Given the description of an element on the screen output the (x, y) to click on. 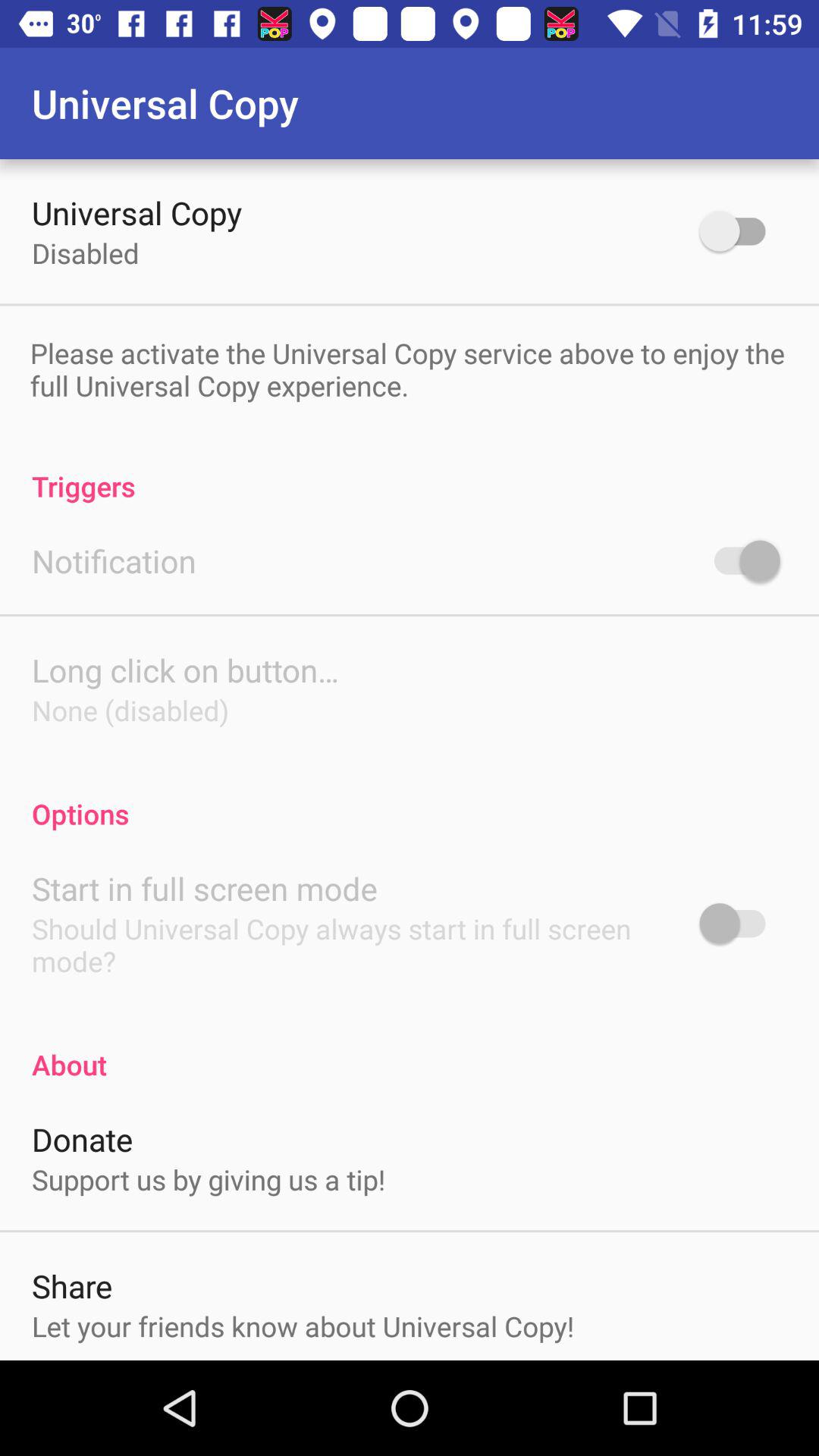
toggle universal copy function (739, 231)
